Given the description of an element on the screen output the (x, y) to click on. 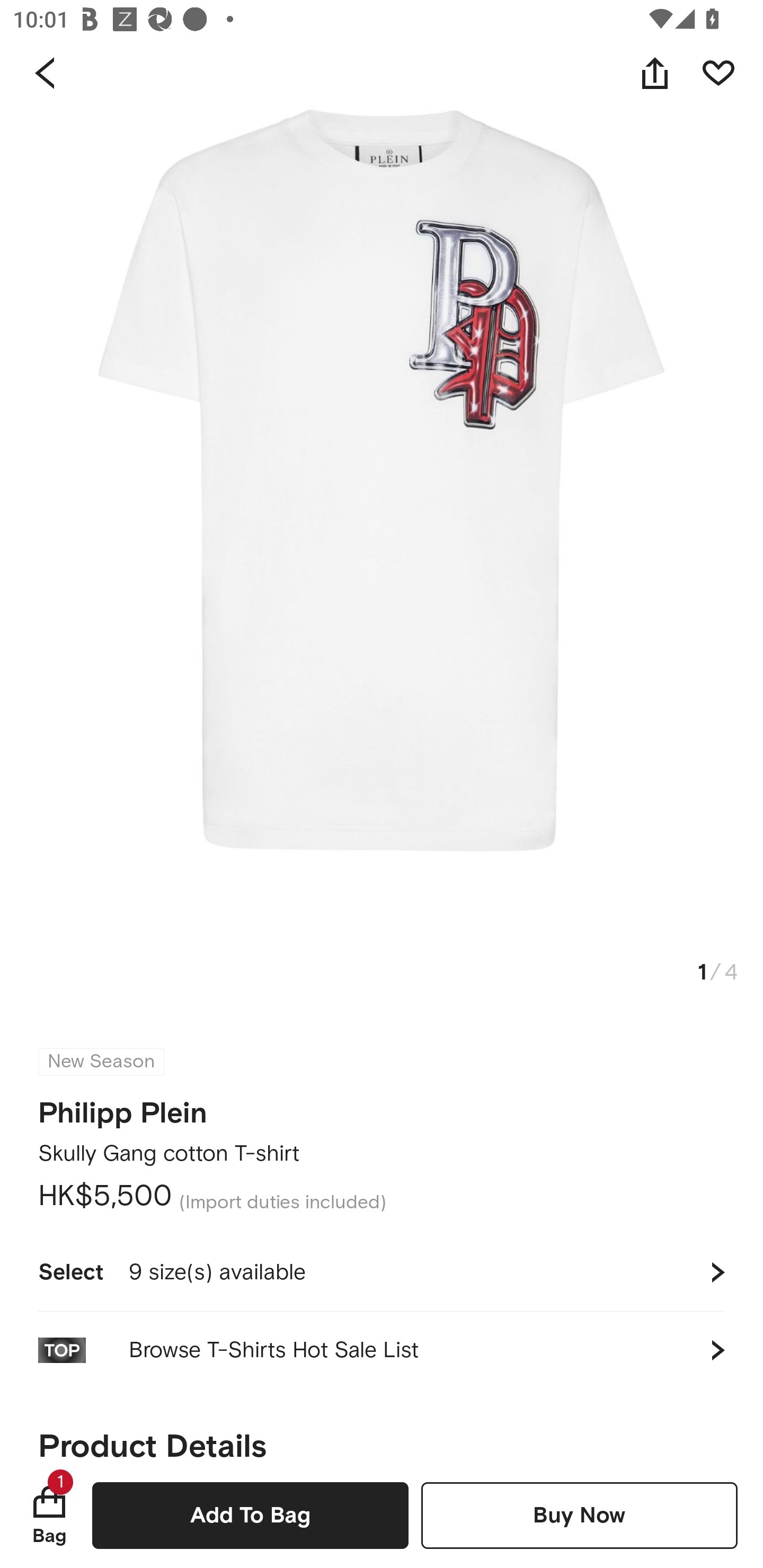
Philipp Plein (122, 1107)
Select 9 size(s) available (381, 1272)
Browse T-Shirts Hot Sale List (381, 1349)
Bag 1 (49, 1515)
Add To Bag (250, 1515)
Buy Now (579, 1515)
